Given the description of an element on the screen output the (x, y) to click on. 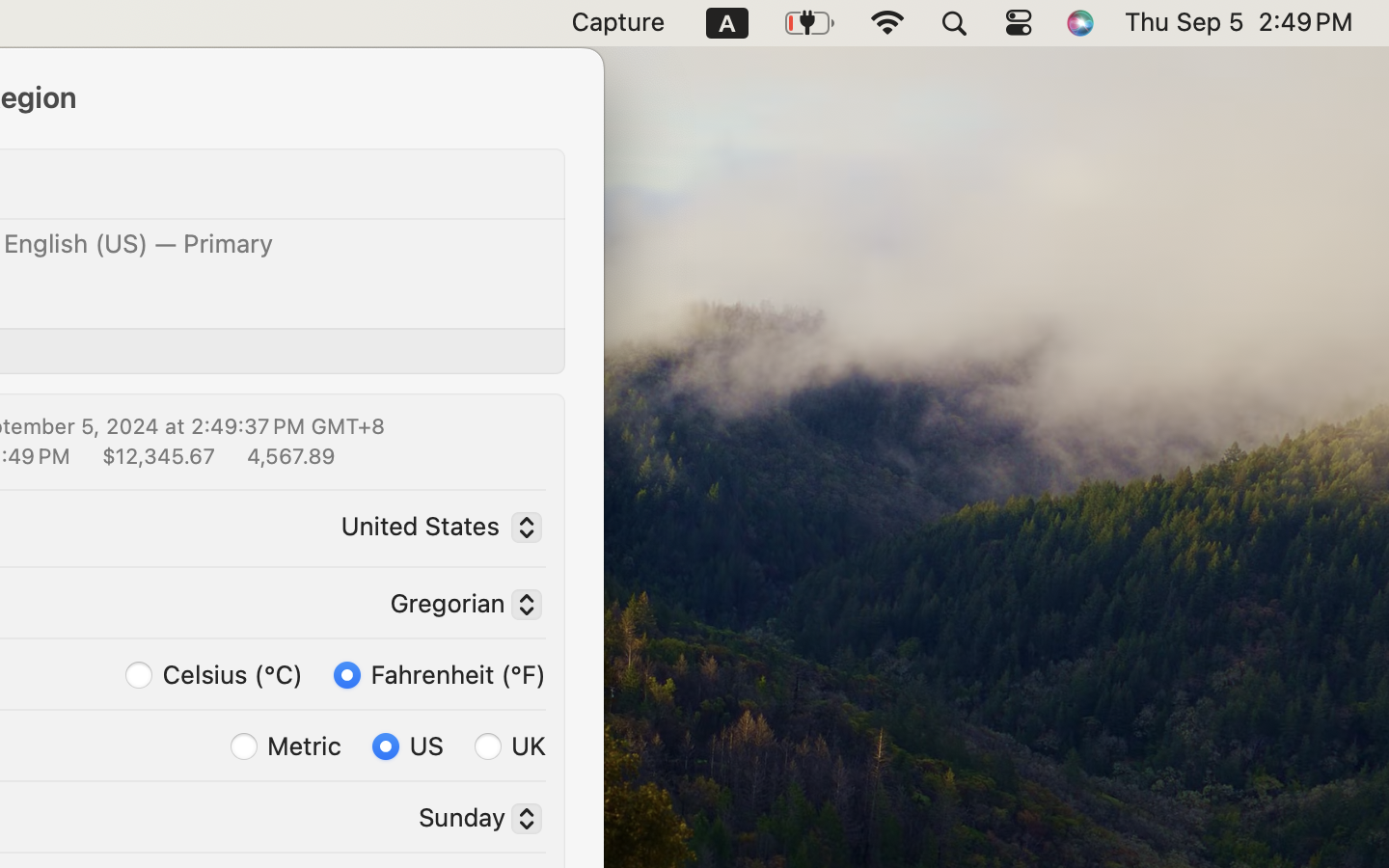
$12,345.67 Element type: AXStaticText (157, 454)
Sunday Element type: AXPopUpButton (472, 820)
English (US) — Primary Element type: AXStaticText (138, 242)
1 Element type: AXRadioButton (439, 672)
